Given the description of an element on the screen output the (x, y) to click on. 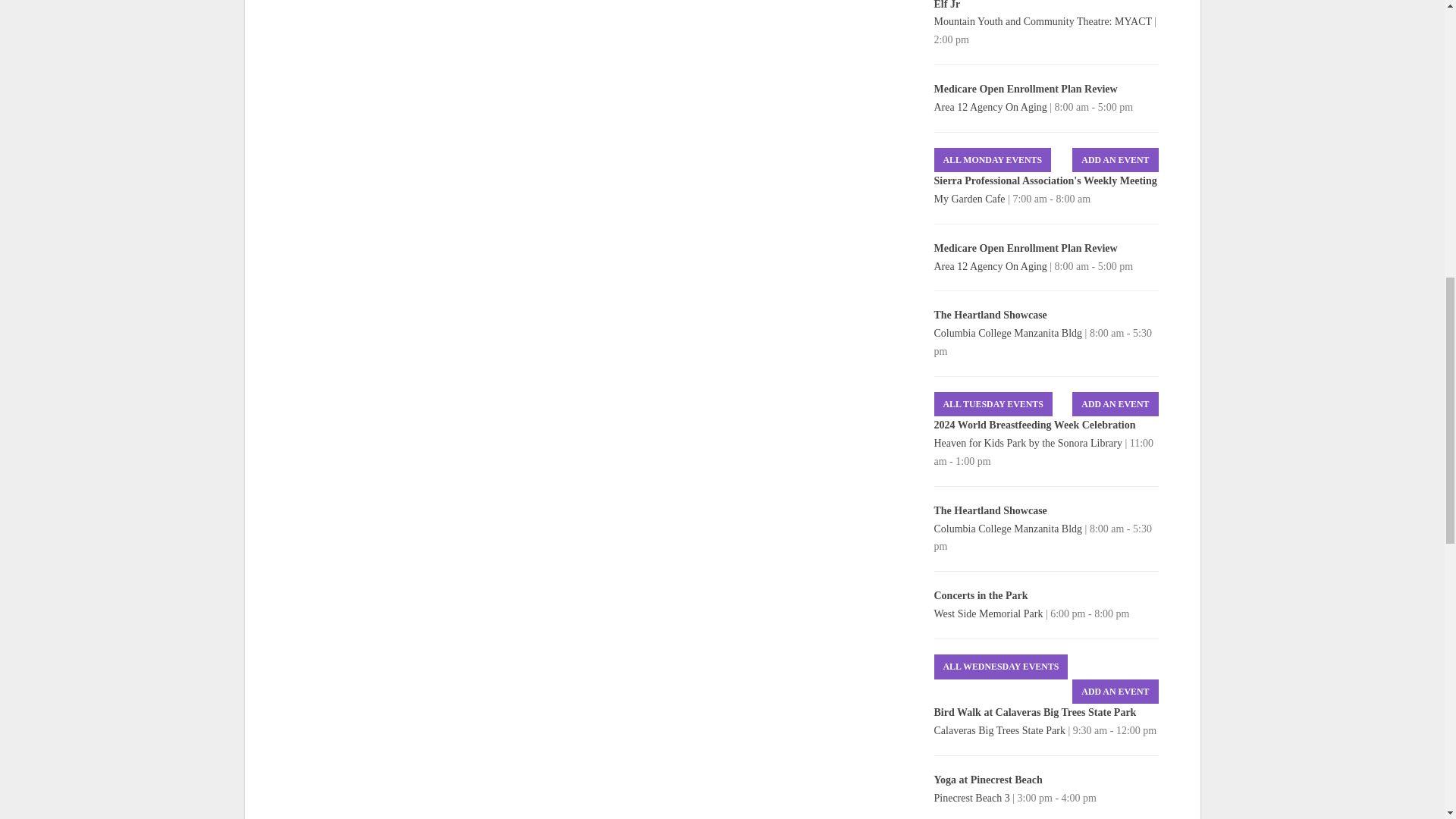
All Monday Events (992, 160)
Add An Event (1114, 404)
All Wednesday Events (1001, 666)
Add An Event (1114, 691)
All Tuesday Events (993, 404)
Add An Event (1114, 160)
